Given the description of an element on the screen output the (x, y) to click on. 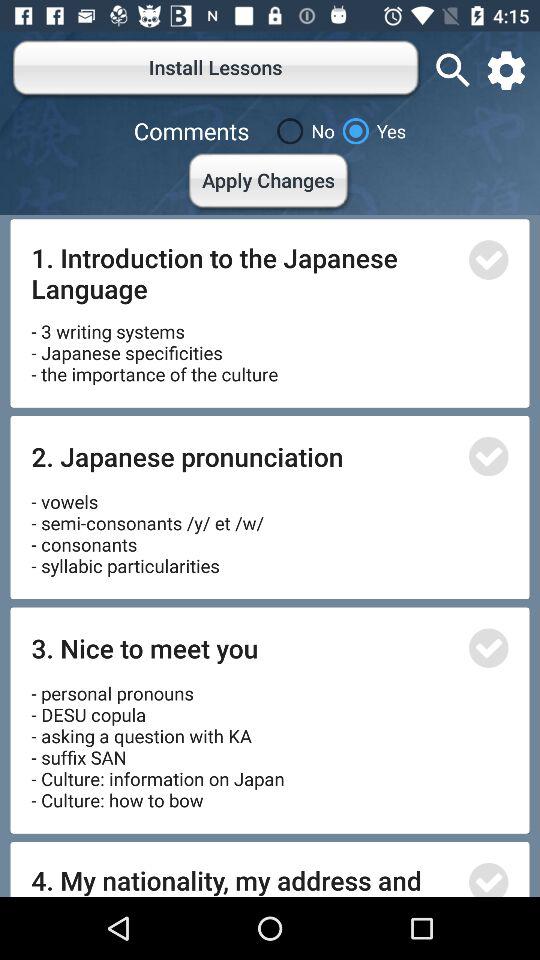
scroll to 3 nice to (243, 647)
